Given the description of an element on the screen output the (x, y) to click on. 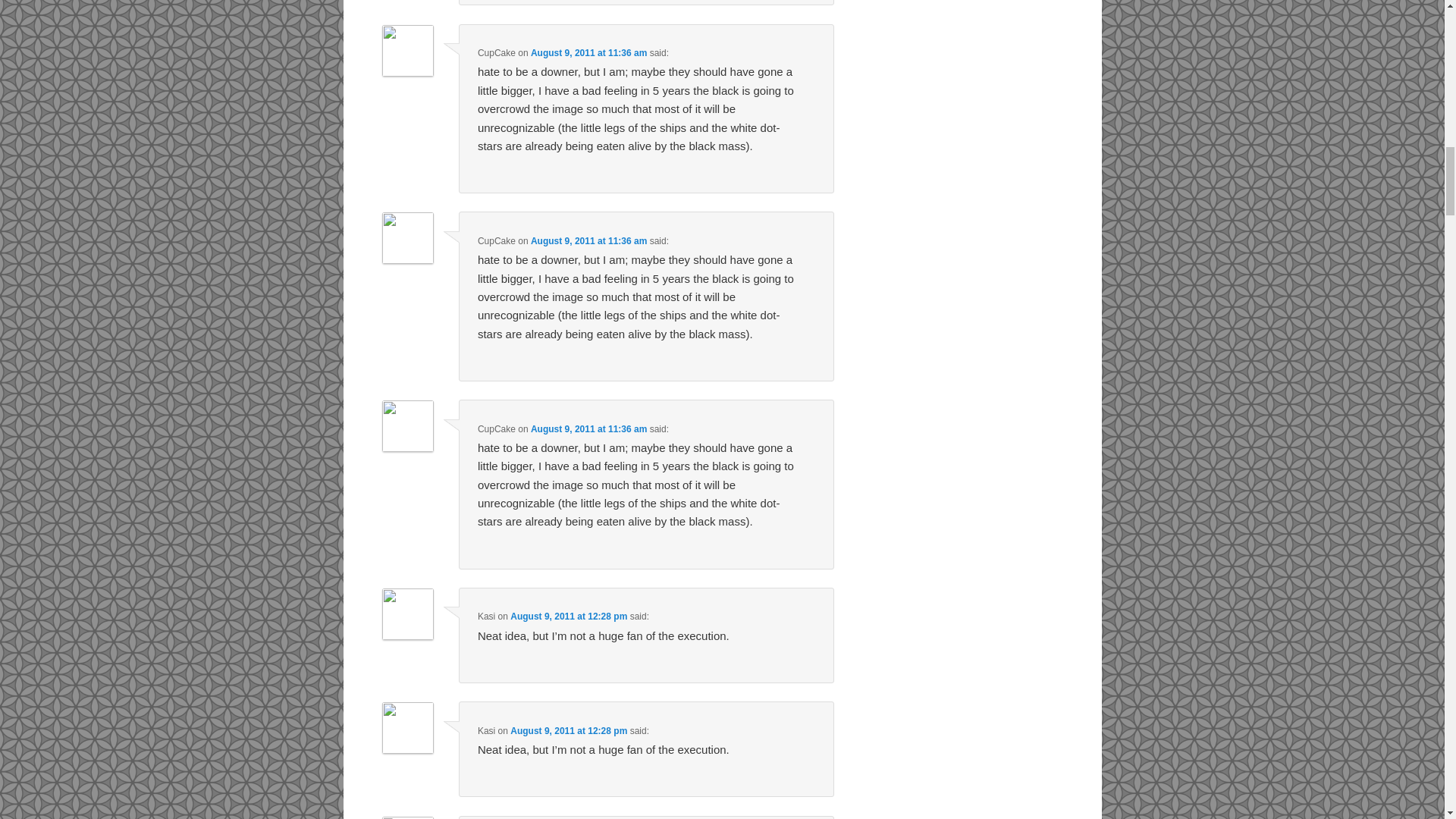
August 9, 2011 at 12:28 pm (569, 615)
August 9, 2011 at 11:36 am (588, 52)
August 9, 2011 at 11:36 am (588, 240)
August 9, 2011 at 11:36 am (588, 429)
August 9, 2011 at 12:28 pm (569, 730)
